Given the description of an element on the screen output the (x, y) to click on. 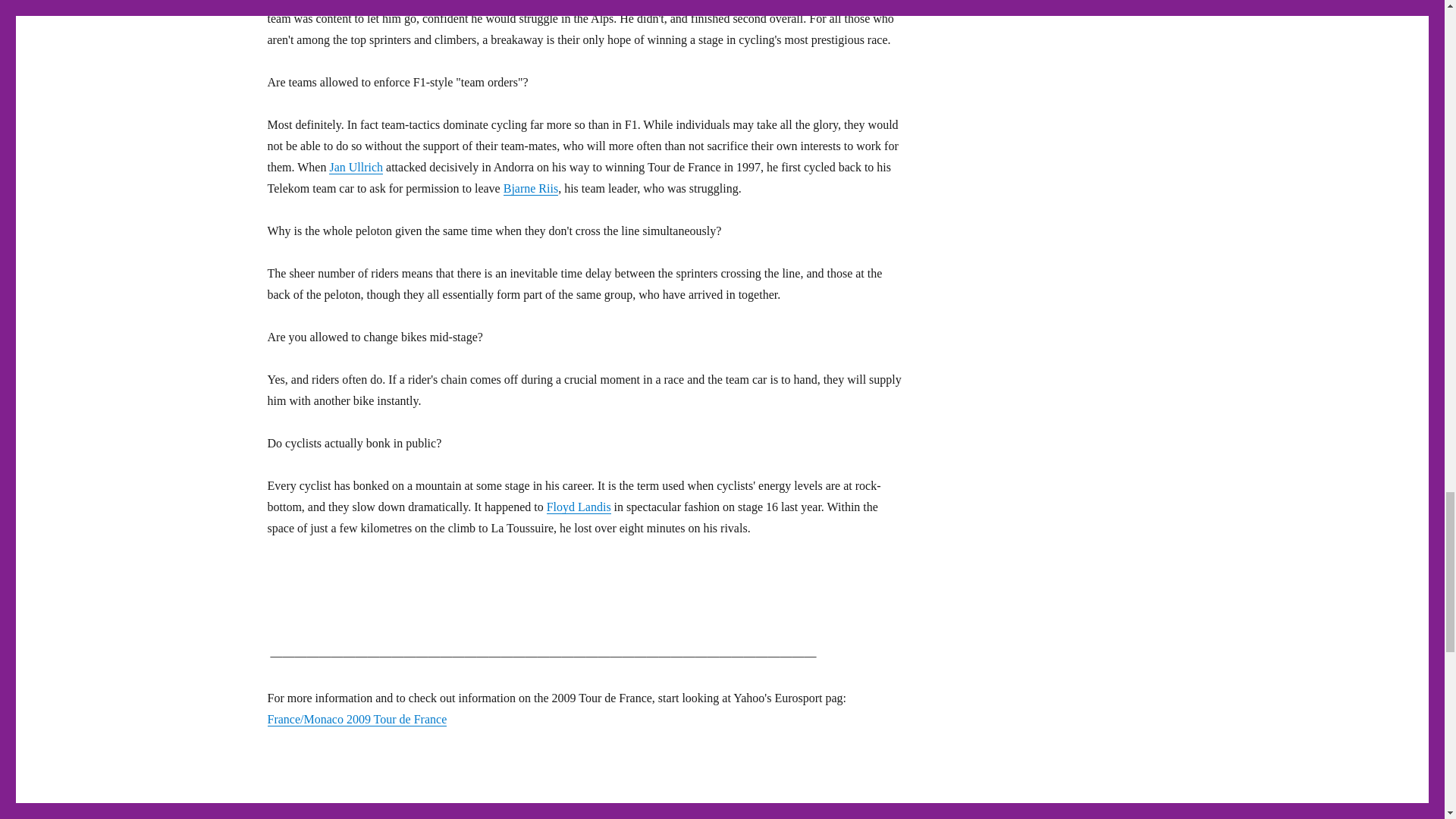
Jan Ullrich (355, 166)
Floyd Landis (579, 506)
Floyd Landis (828, 2)
Bjarne Riis (530, 187)
